Given the description of an element on the screen output the (x, y) to click on. 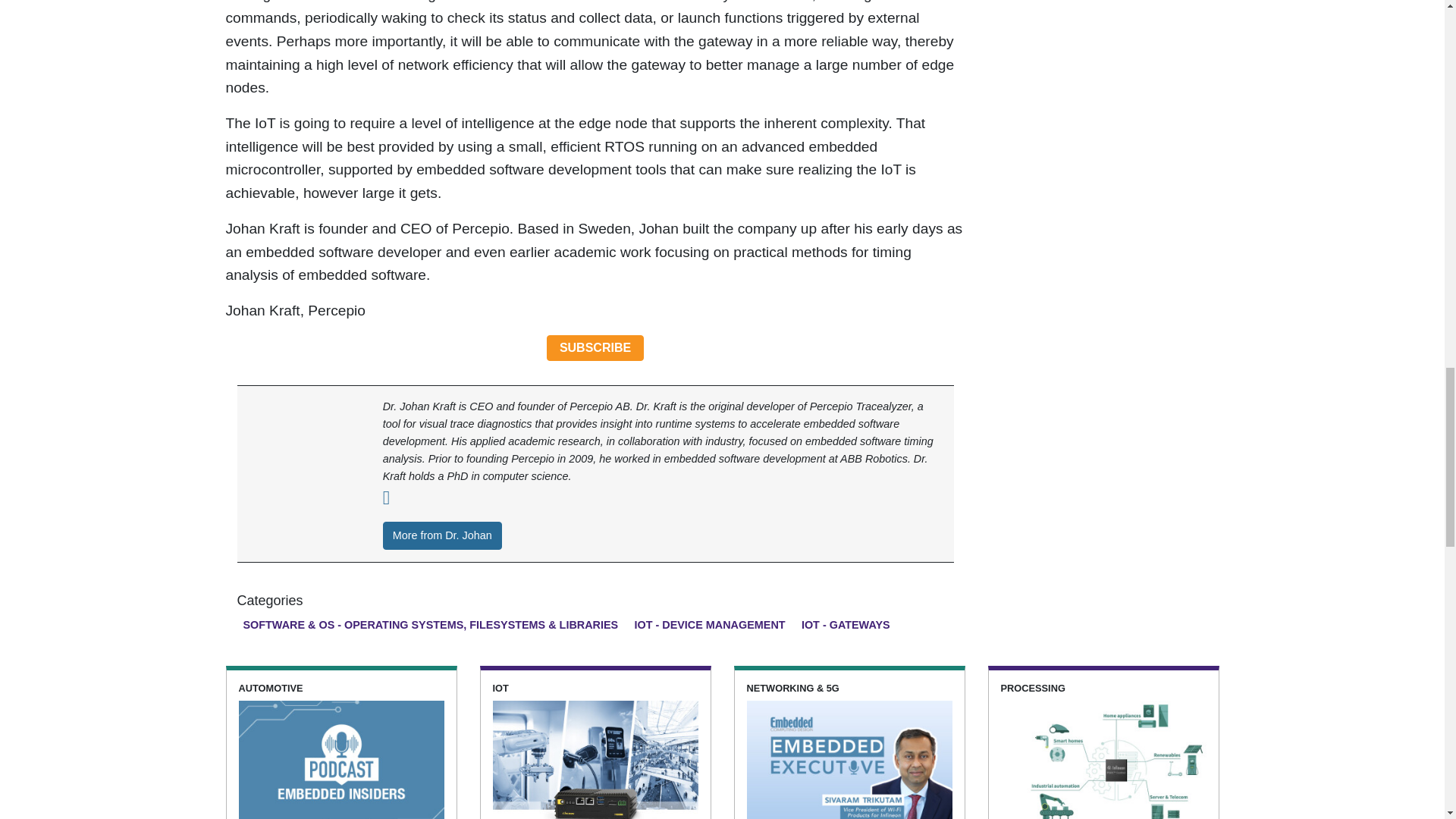
3rd party ad content (1103, 67)
